Given the description of an element on the screen output the (x, y) to click on. 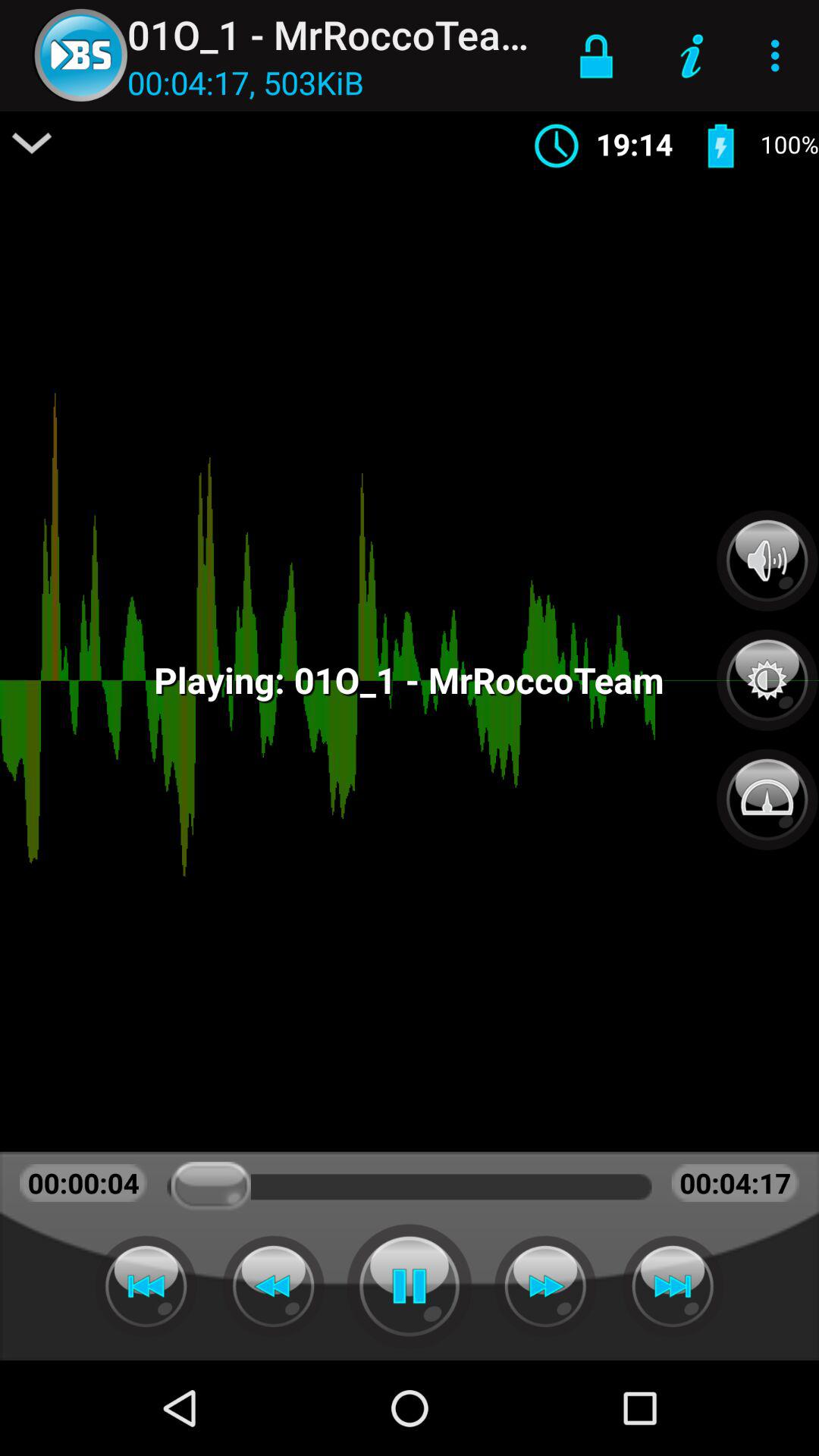
forward button (545, 1286)
